Given the description of an element on the screen output the (x, y) to click on. 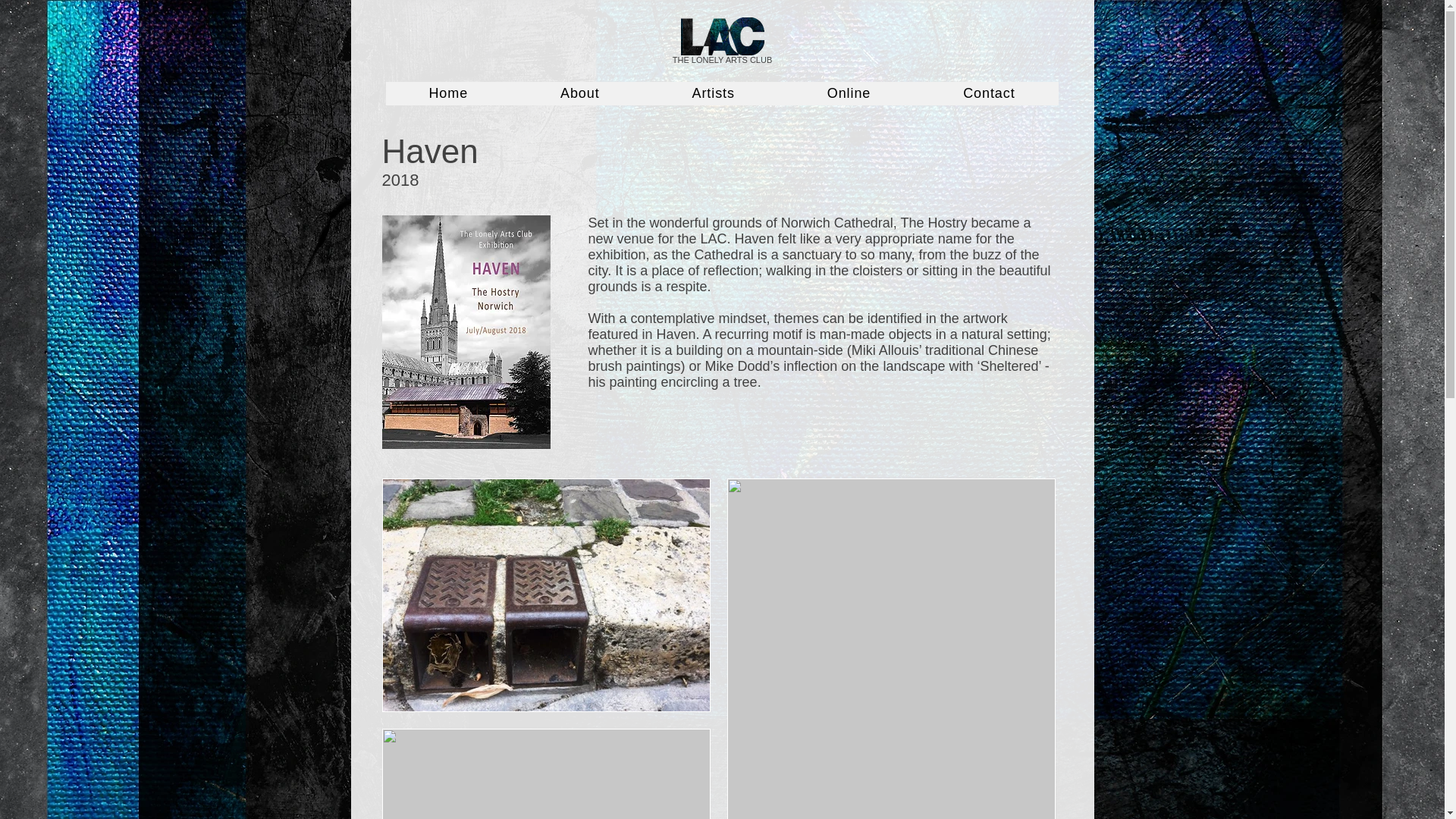
About (579, 93)
Contact (989, 93)
Online (849, 93)
Artists (713, 93)
Home (448, 93)
